Given the description of an element on the screen output the (x, y) to click on. 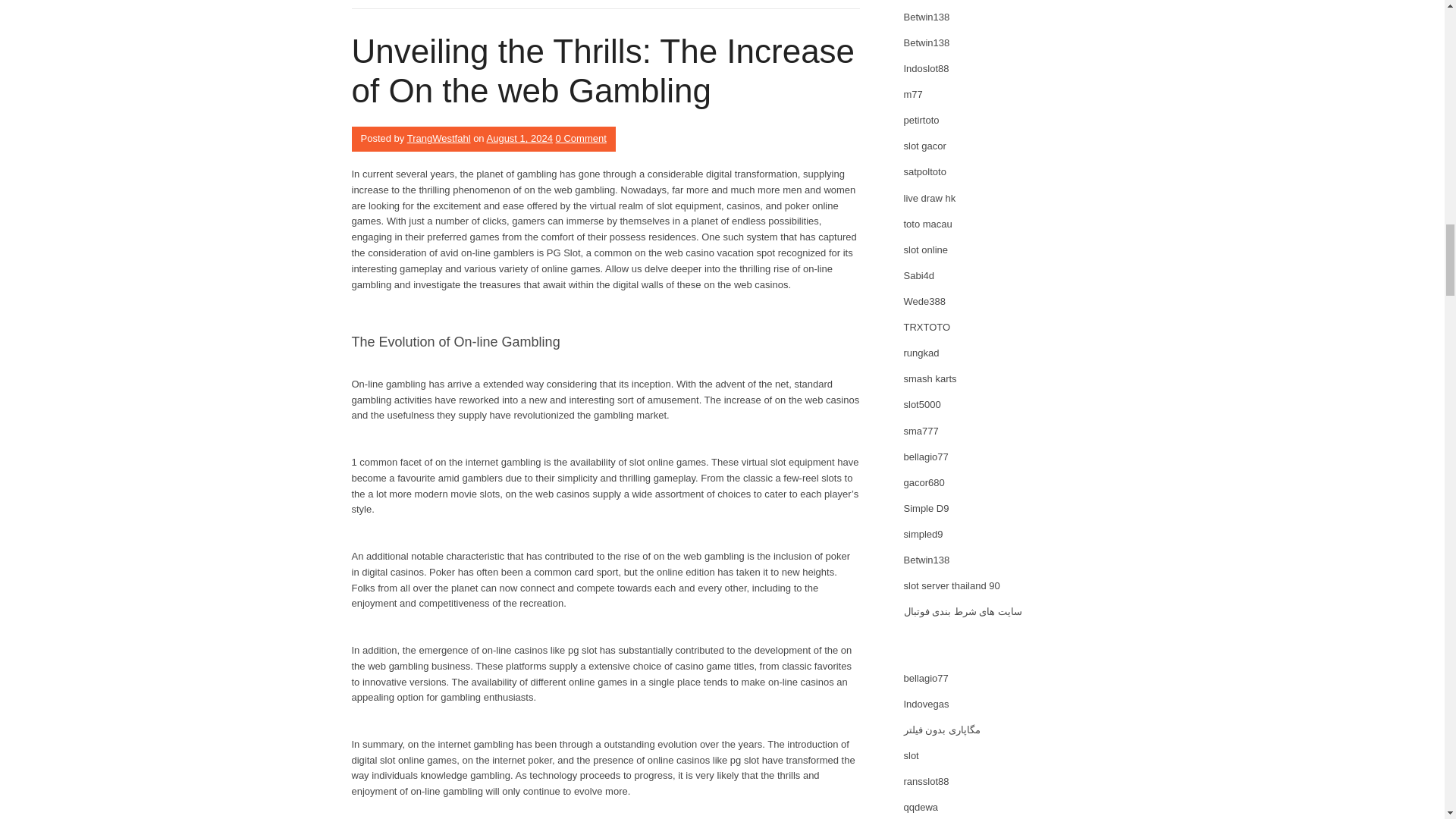
August 1, 2024 (519, 138)
TrangWestfahl (438, 138)
Unveiling the Thrills: The Increase of On the web Gambling (604, 70)
0 Comment (581, 138)
